Given the description of an element on the screen output the (x, y) to click on. 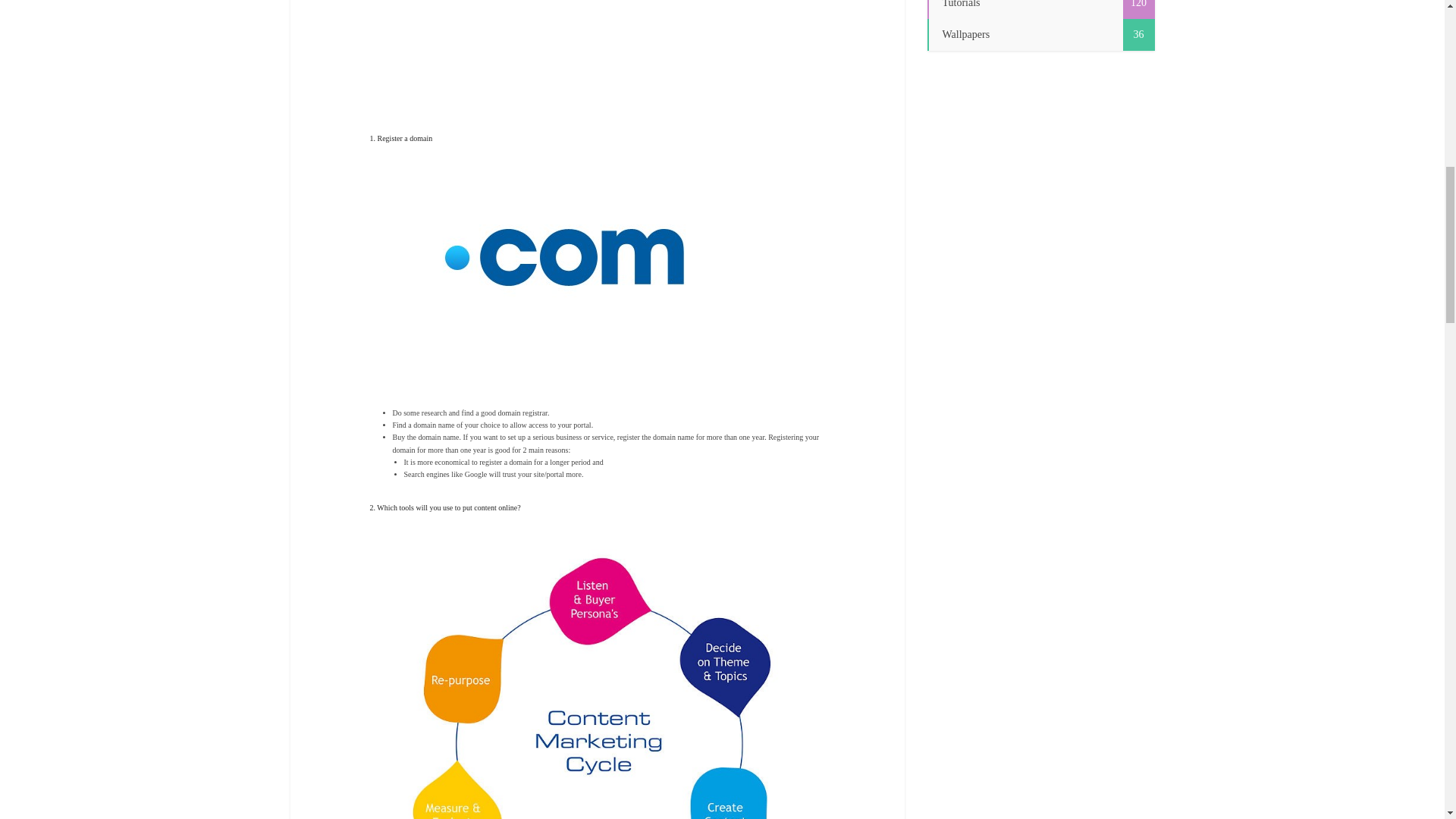
Advertisement (657, 63)
